Given the description of an element on the screen output the (x, y) to click on. 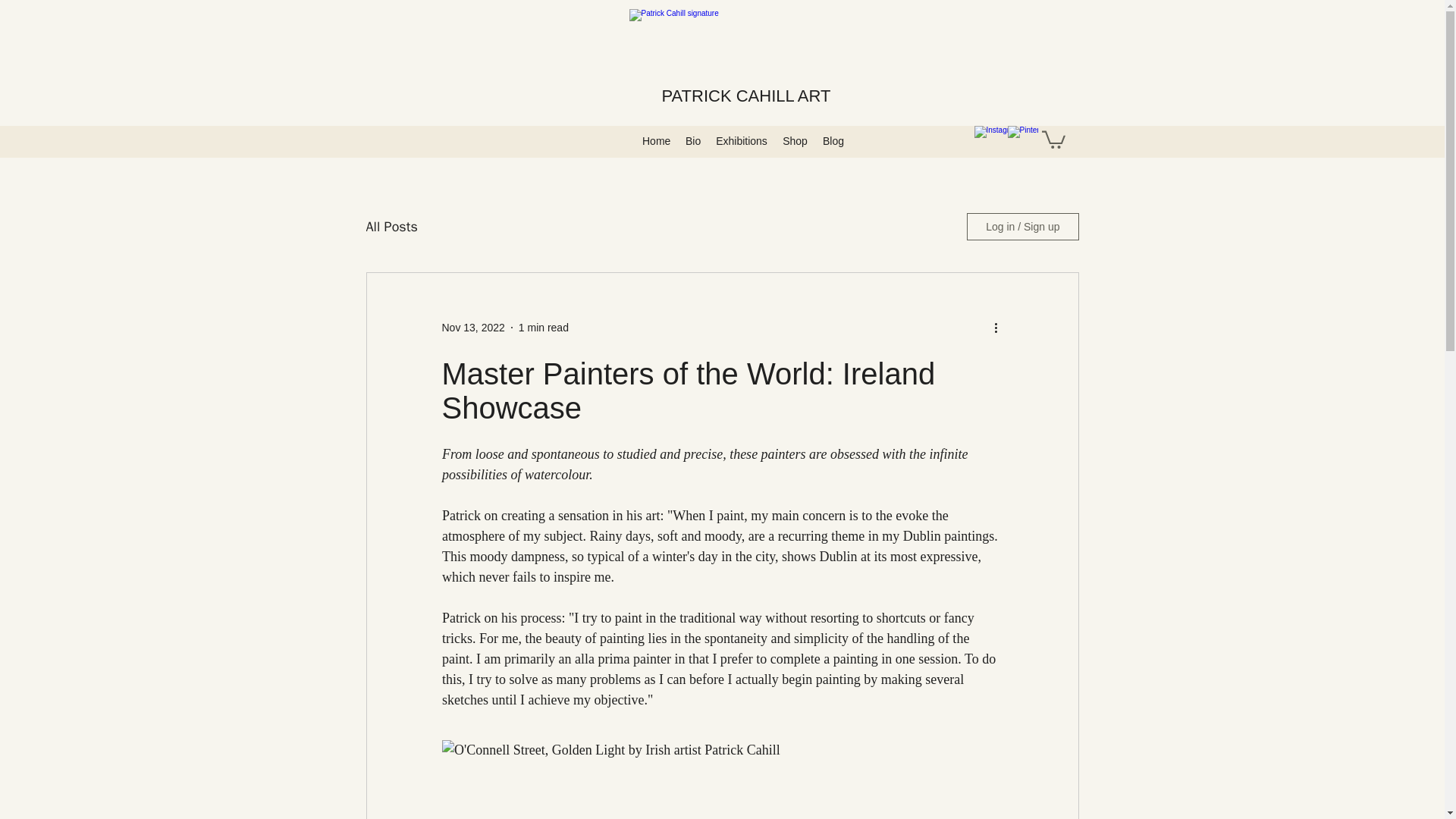
Home (656, 140)
Patrick Cahill logo black-13.png (745, 57)
Blog (833, 140)
Nov 13, 2022 (472, 327)
Bio (692, 140)
Shop (794, 140)
Exhibitions (740, 140)
1 min read (543, 327)
All Posts (390, 226)
